Given the description of an element on the screen output the (x, y) to click on. 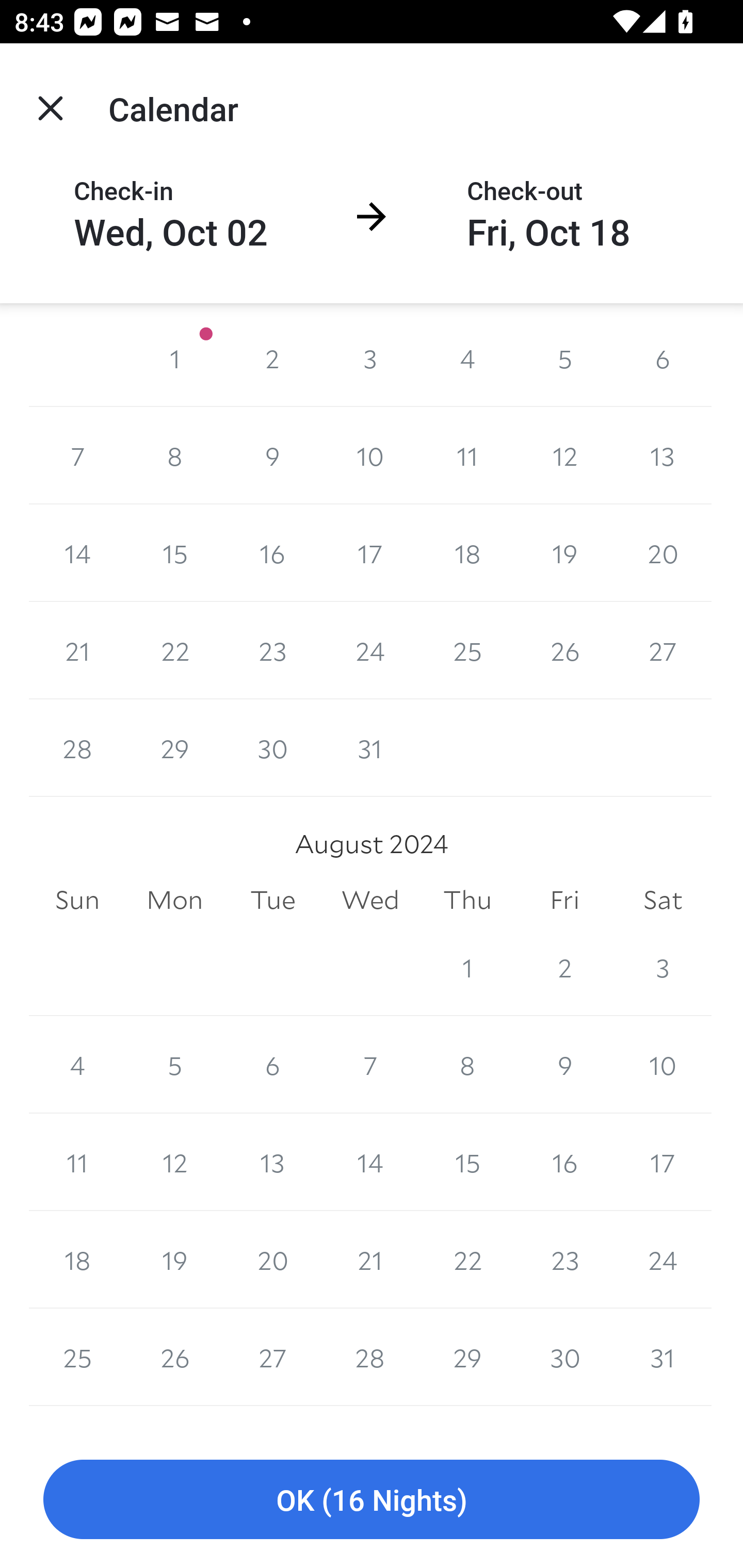
1 1 July 2024 (174, 357)
2 2 July 2024 (272, 357)
3 3 July 2024 (370, 357)
4 4 July 2024 (467, 357)
5 5 July 2024 (564, 357)
6 6 July 2024 (662, 357)
7 7 July 2024 (77, 455)
8 8 July 2024 (174, 455)
9 9 July 2024 (272, 455)
10 10 July 2024 (370, 455)
11 11 July 2024 (467, 455)
12 12 July 2024 (564, 455)
13 13 July 2024 (662, 455)
14 14 July 2024 (77, 553)
15 15 July 2024 (174, 553)
16 16 July 2024 (272, 553)
17 17 July 2024 (370, 553)
18 18 July 2024 (467, 553)
19 19 July 2024 (564, 553)
20 20 July 2024 (662, 553)
21 21 July 2024 (77, 650)
22 22 July 2024 (174, 650)
23 23 July 2024 (272, 650)
24 24 July 2024 (370, 650)
25 25 July 2024 (467, 650)
26 26 July 2024 (564, 650)
27 27 July 2024 (662, 650)
28 28 July 2024 (77, 747)
29 29 July 2024 (174, 747)
30 30 July 2024 (272, 747)
31 31 July 2024 (370, 747)
Sun (77, 899)
Mon (174, 899)
Tue (272, 899)
Wed (370, 899)
Thu (467, 899)
Fri (564, 899)
Sat (662, 899)
1 1 August 2024 (467, 967)
2 2 August 2024 (564, 967)
3 3 August 2024 (662, 967)
4 4 August 2024 (77, 1064)
5 5 August 2024 (174, 1064)
6 6 August 2024 (272, 1064)
7 7 August 2024 (370, 1064)
8 8 August 2024 (467, 1064)
9 9 August 2024 (564, 1064)
10 10 August 2024 (662, 1064)
11 11 August 2024 (77, 1161)
12 12 August 2024 (174, 1161)
13 13 August 2024 (272, 1161)
14 14 August 2024 (370, 1161)
15 15 August 2024 (467, 1161)
16 16 August 2024 (564, 1161)
17 17 August 2024 (662, 1161)
18 18 August 2024 (77, 1259)
19 19 August 2024 (174, 1259)
20 20 August 2024 (272, 1259)
21 21 August 2024 (370, 1259)
22 22 August 2024 (467, 1259)
23 23 August 2024 (564, 1259)
24 24 August 2024 (662, 1259)
25 25 August 2024 (77, 1357)
26 26 August 2024 (174, 1357)
27 27 August 2024 (272, 1357)
28 28 August 2024 (370, 1357)
29 29 August 2024 (467, 1357)
30 30 August 2024 (564, 1357)
31 31 August 2024 (662, 1357)
OK (16 Nights) (371, 1499)
